Given the description of an element on the screen output the (x, y) to click on. 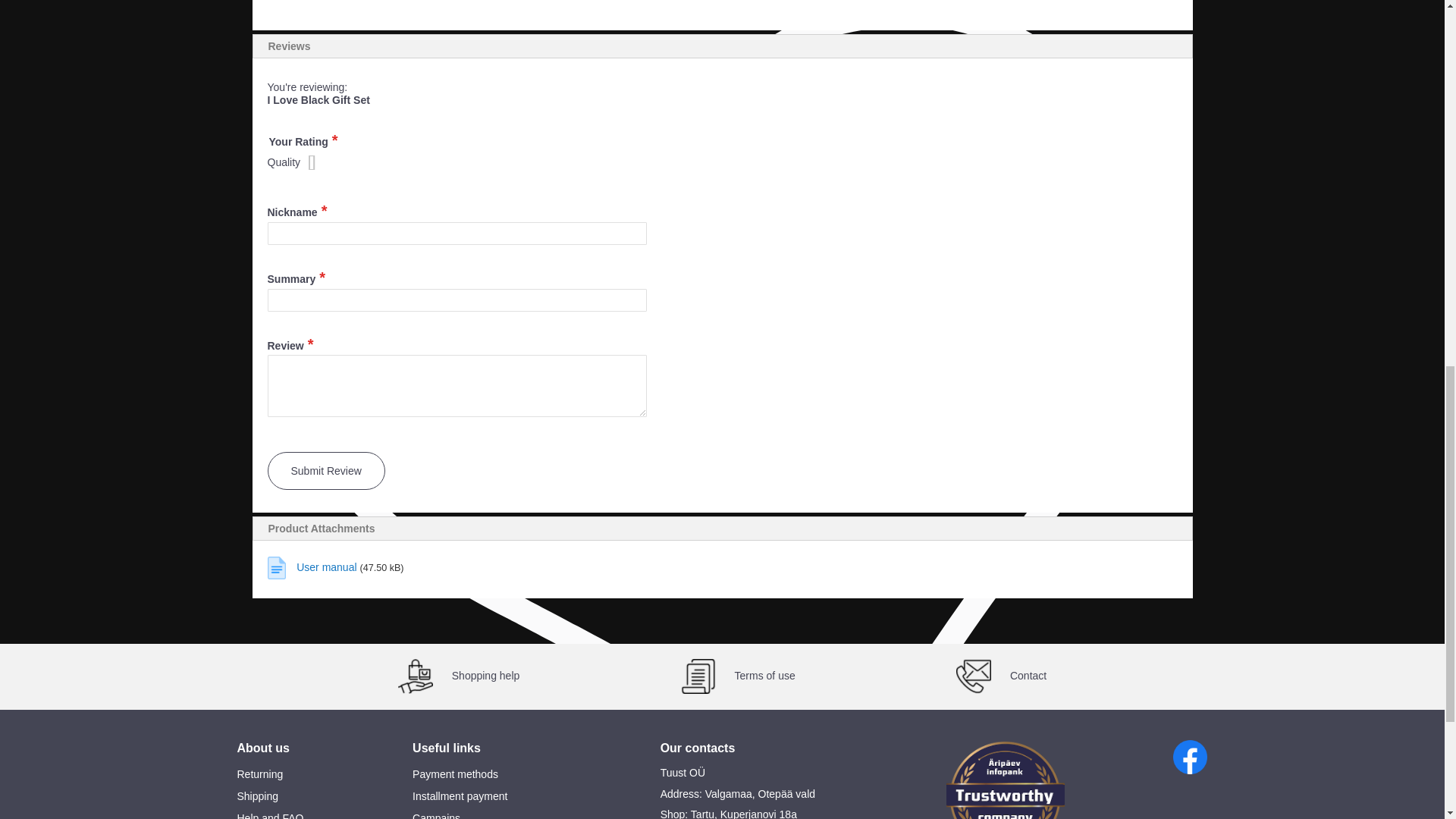
Facebook (1190, 756)
